Given the description of an element on the screen output the (x, y) to click on. 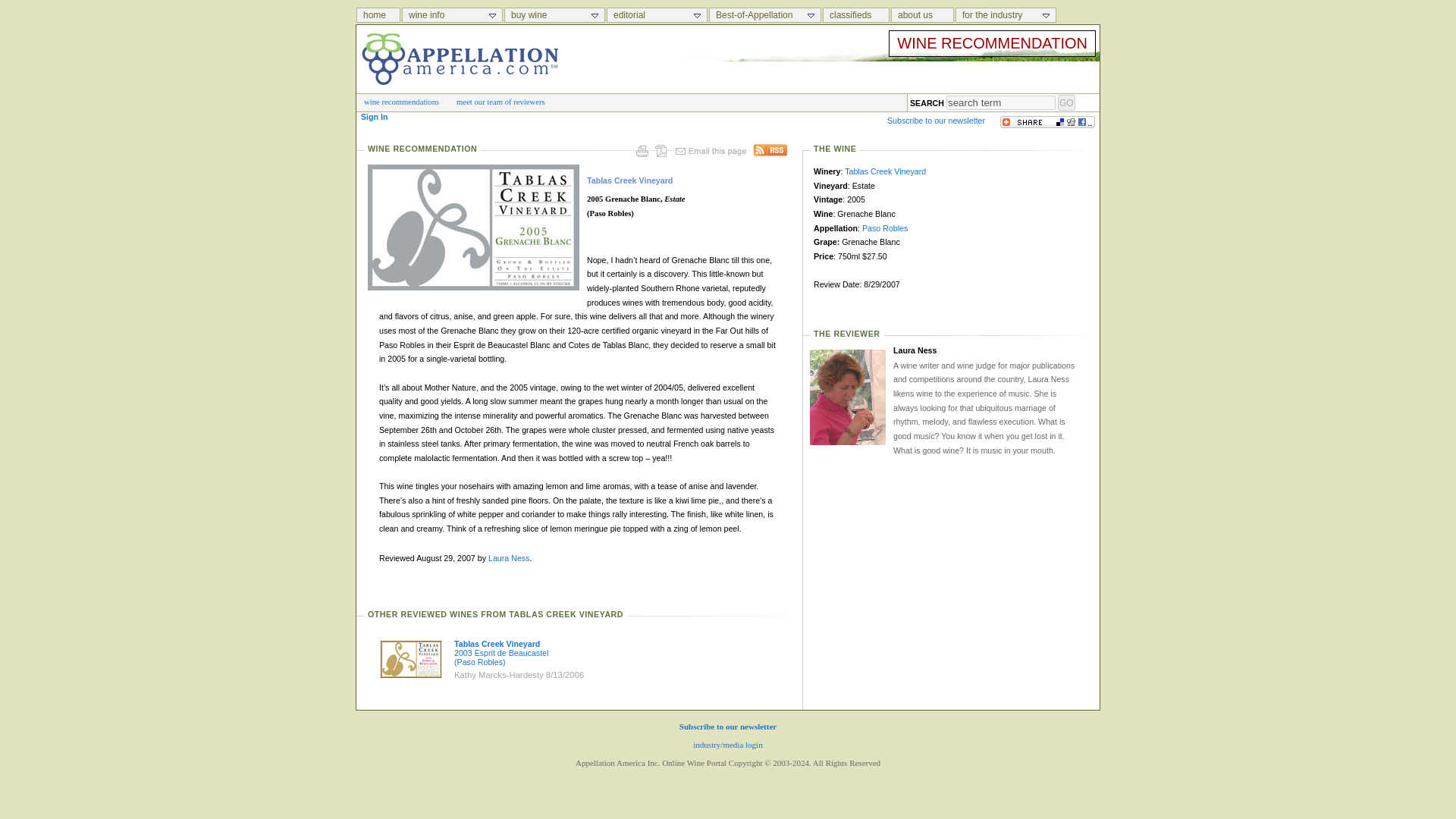
wine recommendations (401, 101)
for the industry (1006, 14)
meet our team of reviewers (500, 101)
about us (922, 14)
Best-of-Appellation (765, 14)
wine info (451, 14)
home (378, 14)
GO (1066, 102)
Appellation America Home Page (378, 14)
editorial (657, 14)
